Given the description of an element on the screen output the (x, y) to click on. 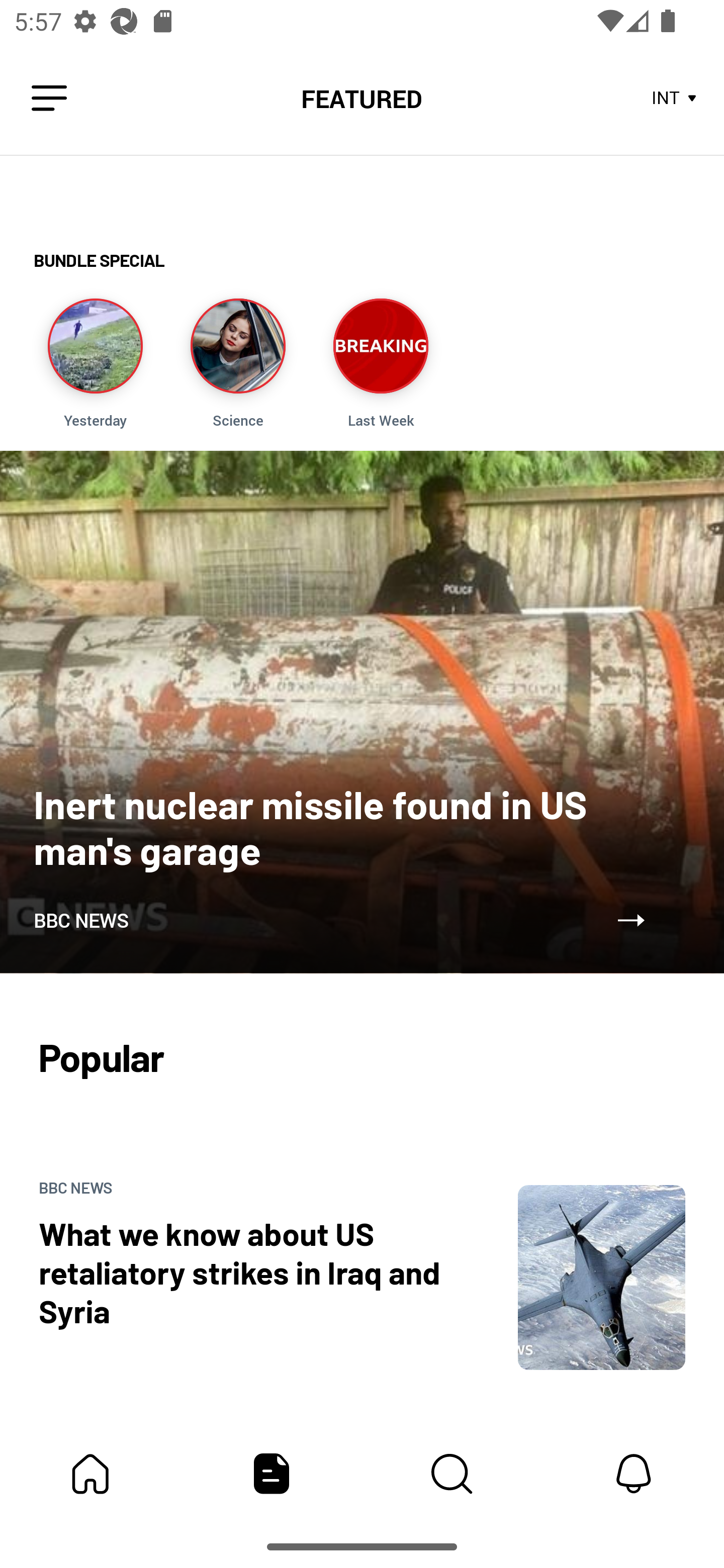
INT Store Area (674, 98)
Leading Icon (49, 98)
Story Image Yesterday (94, 363)
Story Image Science (237, 363)
Story Image Last Week (380, 363)
My Bundle (90, 1473)
Content Store (452, 1473)
Notifications (633, 1473)
